Given the description of an element on the screen output the (x, y) to click on. 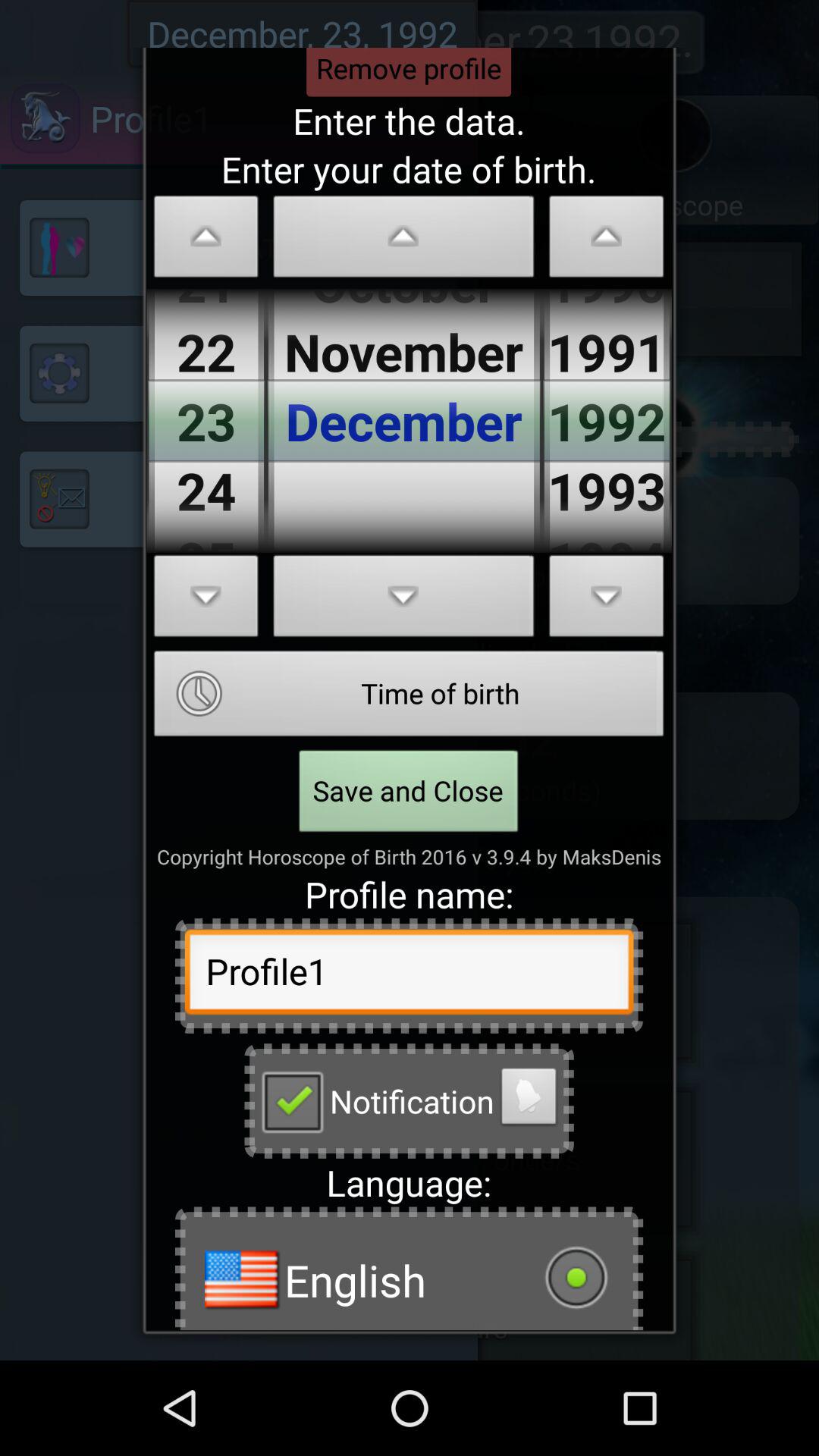
birth year (606, 240)
